Given the description of an element on the screen output the (x, y) to click on. 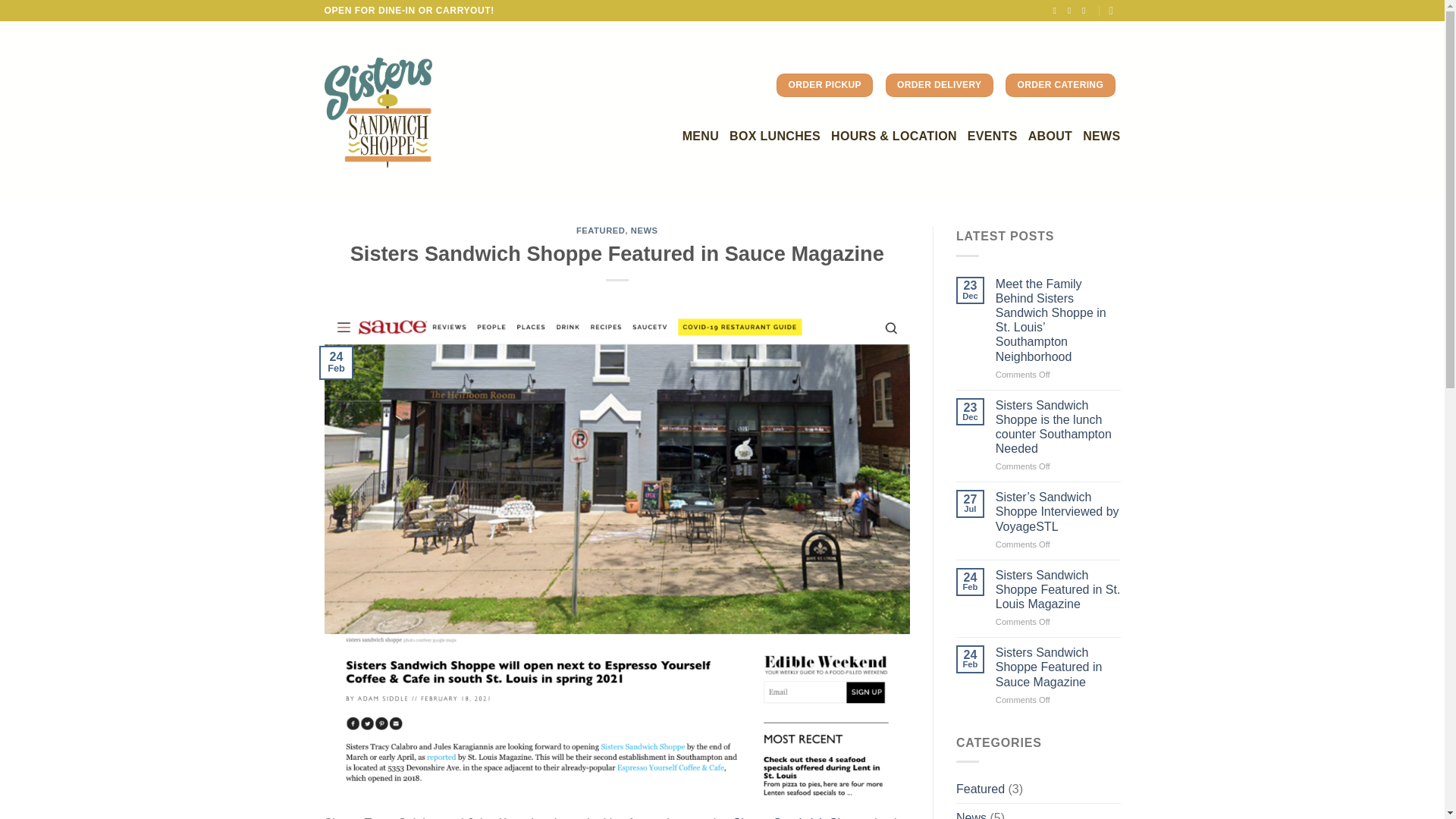
EVENTS (992, 135)
MENU (700, 135)
BOX LUNCHES (775, 135)
Sisters Sandwich Shoppe Featured in St. Louis Magazine (1058, 589)
NEWS (644, 230)
NEWS (1101, 135)
ORDER DELIVERY (938, 85)
ORDER PICKUP (824, 85)
Featured (980, 788)
